Given the description of an element on the screen output the (x, y) to click on. 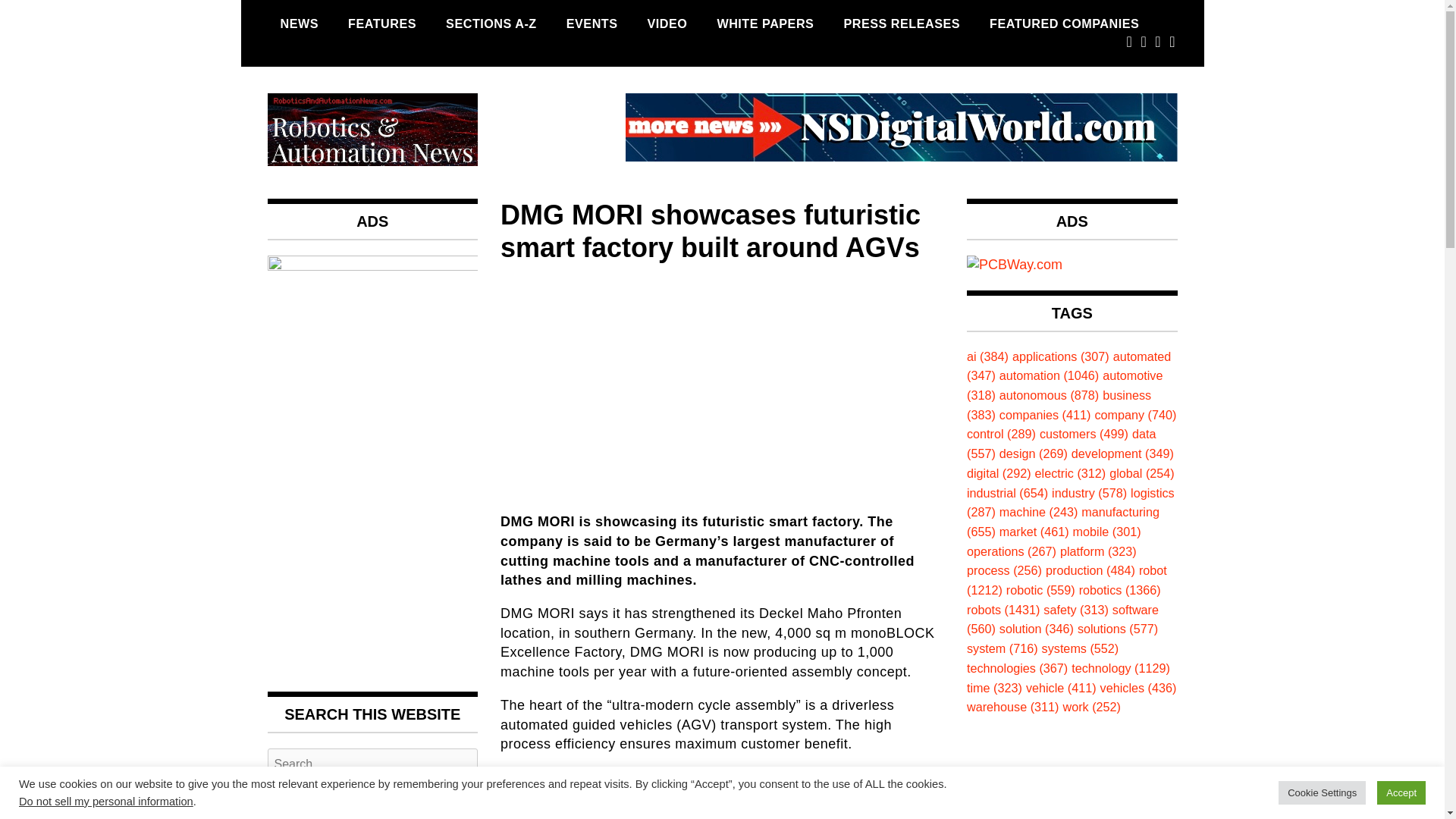
Search (371, 798)
Search (371, 798)
Advertisement (721, 383)
NEWS (298, 23)
FEATURES (382, 23)
SECTIONS A-Z (490, 23)
